Given the description of an element on the screen output the (x, y) to click on. 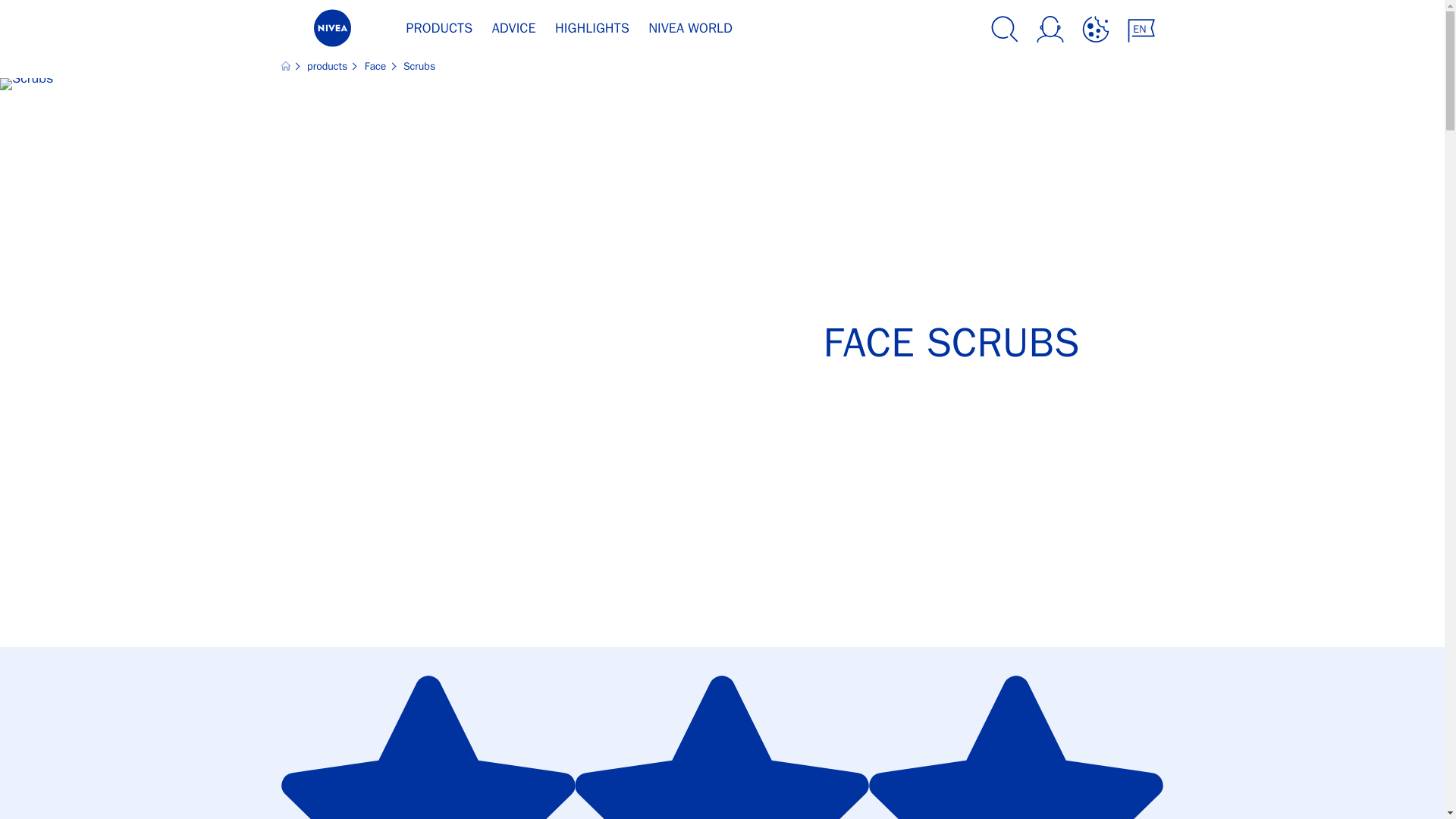
home icon (286, 65)
NIVEA World (689, 32)
HIGHLIGHTS (592, 32)
products (328, 65)
Combination Skin Scrub (1016, 733)
Action (1094, 31)
Your NIVEA Account (1048, 31)
Highlights (592, 32)
ADVICE (513, 32)
Select your language (1140, 31)
Face (377, 65)
NIVEA WORLD (689, 32)
Advice (513, 32)
Smooth Rice Scrub (722, 733)
logo (331, 32)
